Given the description of an element on the screen output the (x, y) to click on. 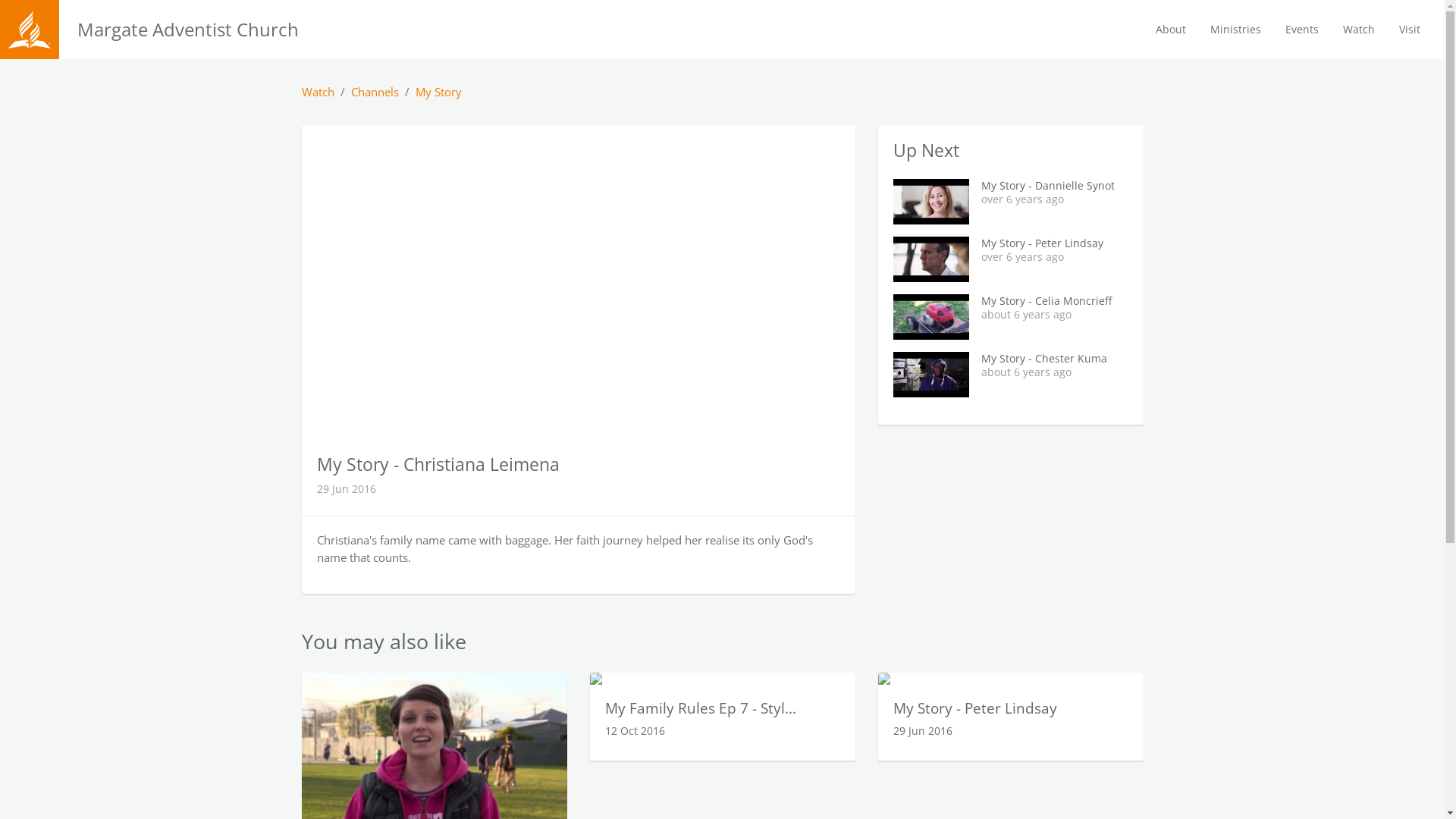
My Story - Chester Kuma
about 6 years ago Element type: text (1010, 374)
Channels Element type: text (374, 91)
Events Element type: text (1301, 29)
Watch Element type: text (1358, 29)
About Element type: text (1170, 29)
My Story - Celia Moncrieff
about 6 years ago Element type: text (1010, 316)
My Story - Peter Lindsay
over 6 years ago Element type: text (1010, 259)
My Story - Peter Lindsay
29 Jun 2016 Element type: text (1010, 716)
My Story Element type: text (438, 91)
My Story - Dannielle Synot
over 6 years ago Element type: text (1010, 201)
My Family Rules Ep 7 - Styl...
12 Oct 2016 Element type: text (722, 716)
Ministries Element type: text (1235, 29)
Visit Element type: text (1409, 29)
Seventh-day Adventist Church Logo
Margate Adventist Church Element type: text (170, 29)
Watch Element type: text (317, 91)
